Given the description of an element on the screen output the (x, y) to click on. 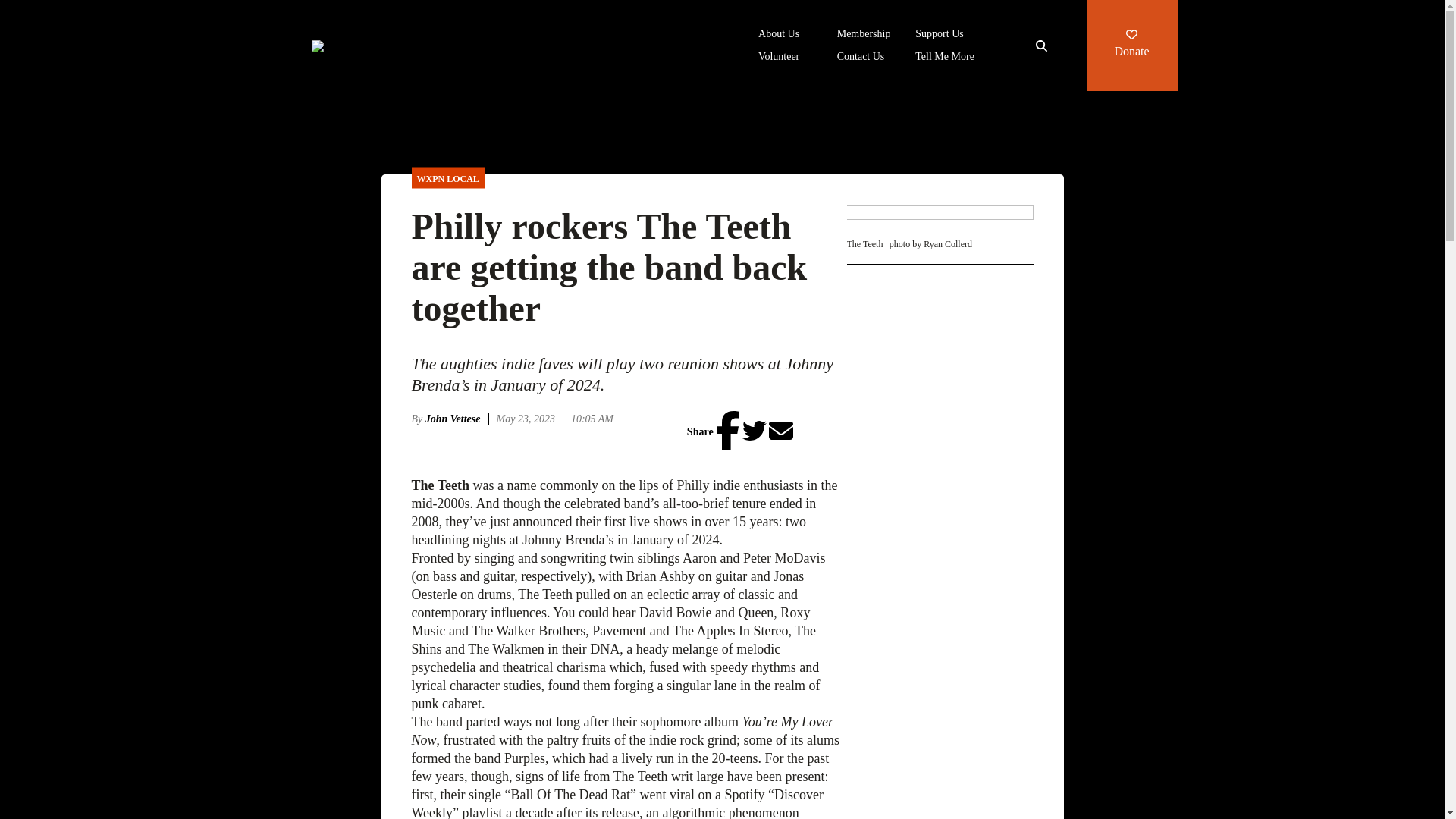
About Us (778, 35)
Tell Me More (944, 57)
Volunteer (778, 57)
Membership (864, 35)
Donate (1131, 45)
Contact Us (861, 57)
Support Us (938, 35)
John Vettese (457, 419)
